Given the description of an element on the screen output the (x, y) to click on. 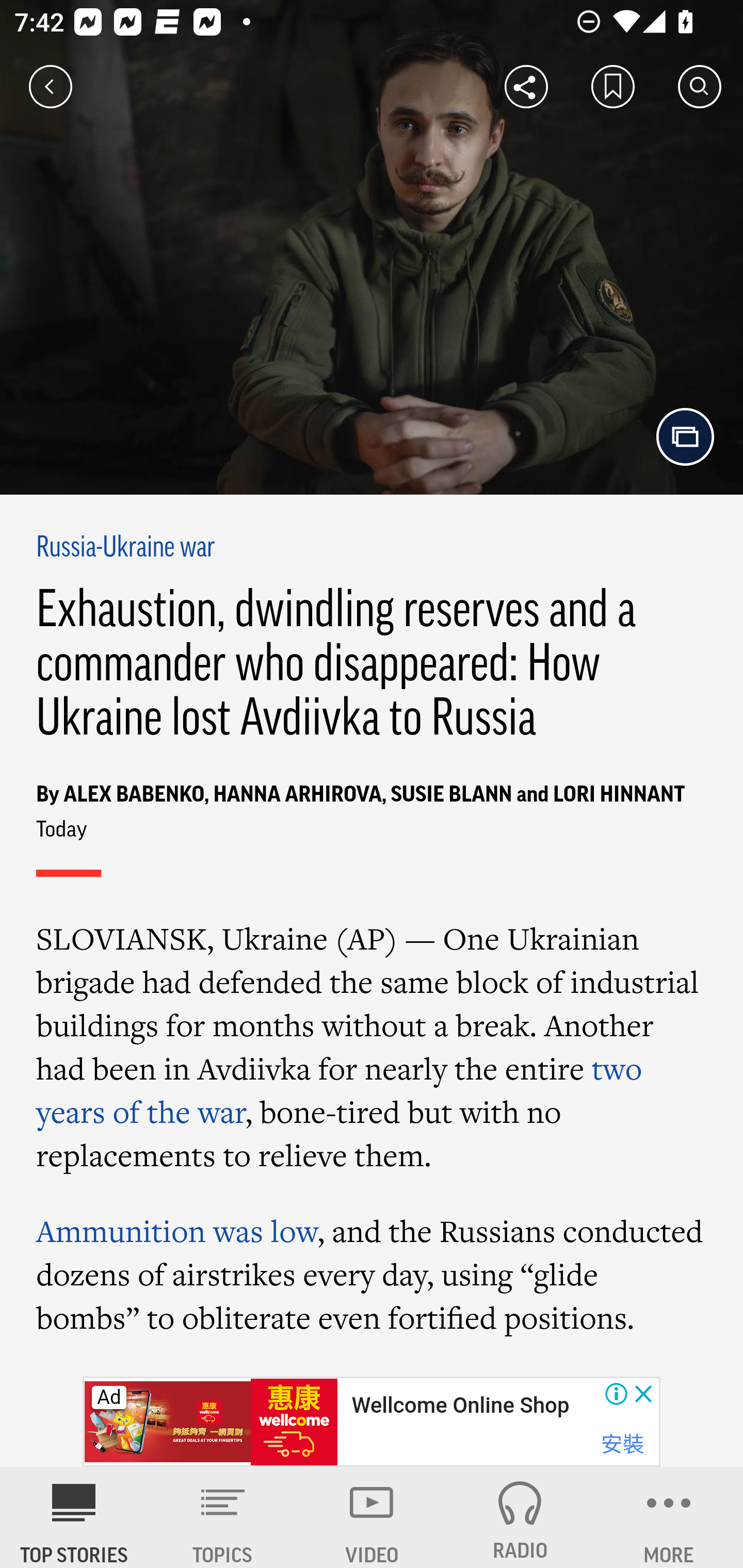
Russia-Ukraine war (126, 548)
two years of the war (339, 1090)
Ammunition was low (177, 1230)
Wellcome Online Shop (459, 1405)
安裝 (621, 1444)
AP News TOP STORIES (74, 1517)
TOPICS (222, 1517)
VIDEO (371, 1517)
RADIO (519, 1517)
MORE (668, 1517)
